Given the description of an element on the screen output the (x, y) to click on. 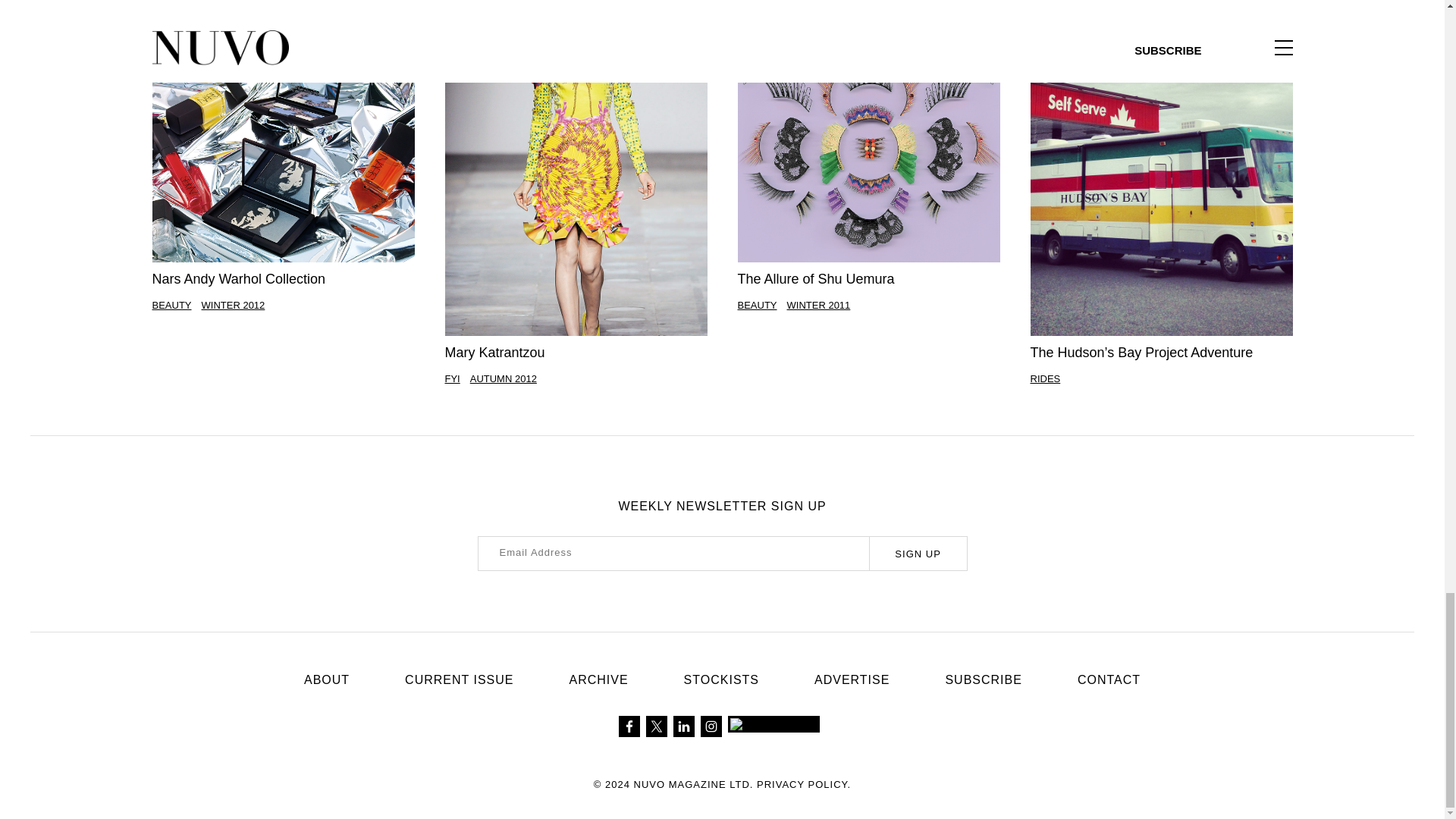
Sign Up (917, 553)
